Given the description of an element on the screen output the (x, y) to click on. 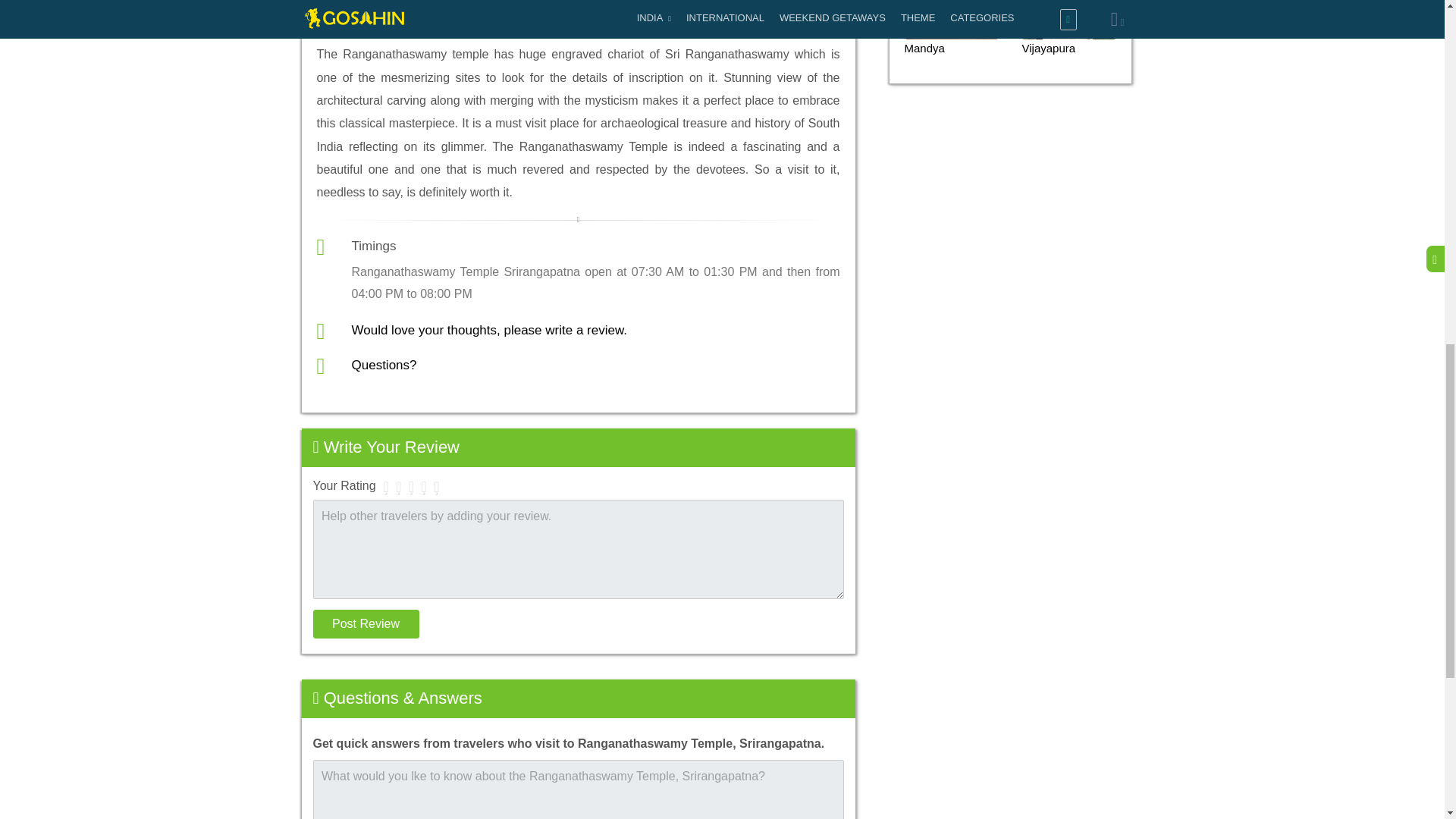
Advertisement (1011, 325)
2 stars (397, 486)
5 stars (435, 486)
3 stars (410, 486)
1 star (386, 486)
Questions? (384, 364)
4 stars (423, 486)
Post Review (366, 623)
Would love your thoughts, please write a review. (489, 329)
